Given the description of an element on the screen output the (x, y) to click on. 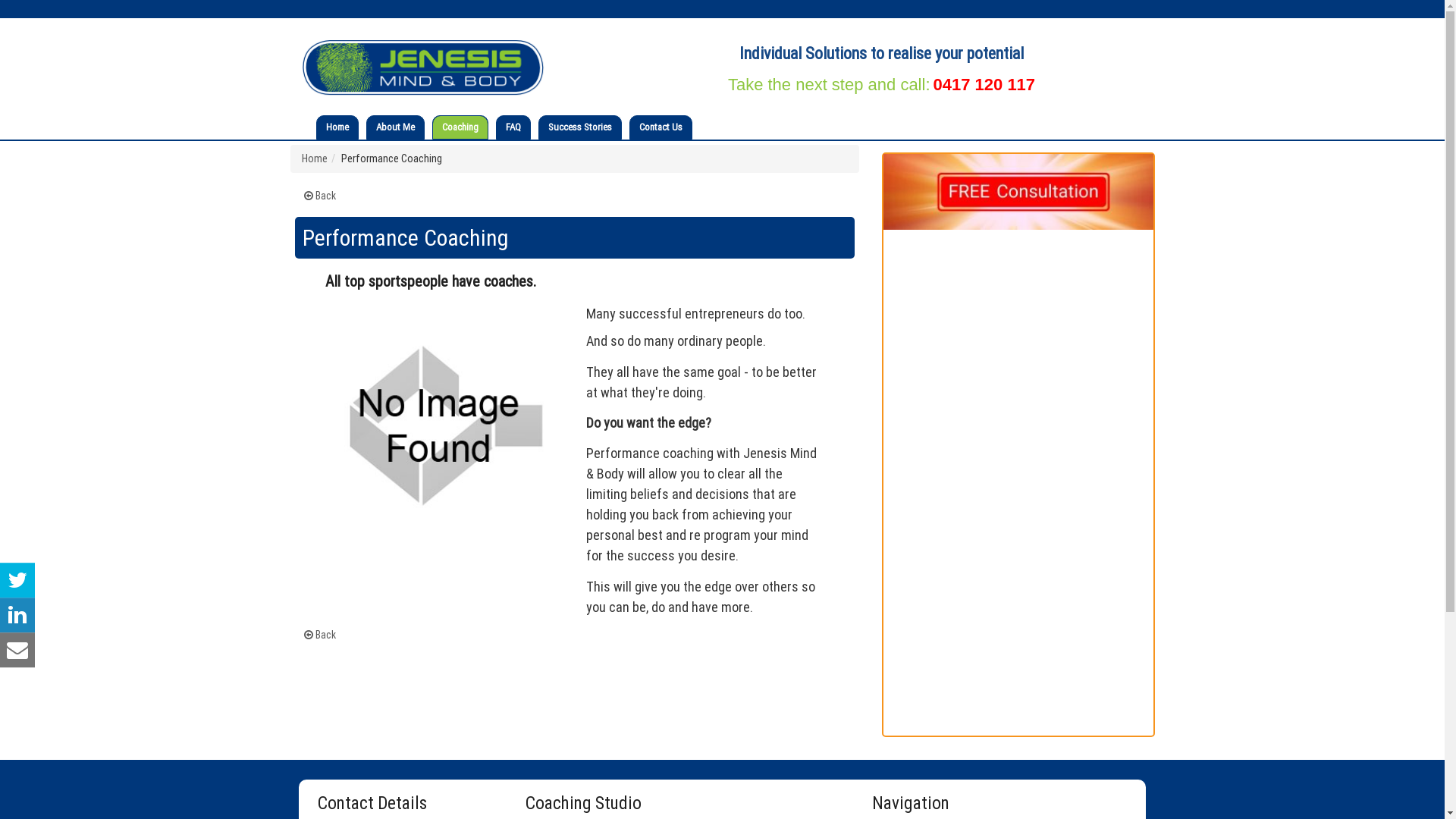
Success Stories Element type: text (579, 127)
Jenesis Mind and Body Email Us Element type: hover (17, 649)
About Me Element type: text (395, 127)
Home Element type: text (336, 127)
Jenesis Mind and Body Twitter Element type: hover (17, 579)
Free 1 Hour Consultation Element type: hover (1017, 191)
Contact Us Element type: text (659, 127)
Coaching Element type: text (459, 127)
FAQ Element type: text (512, 127)
 Back Element type: text (319, 634)
Jenesis Mind and Body Element type: hover (422, 68)
 Back Element type: text (319, 195)
Jenesis Mind and Body linkedin Element type: hover (17, 614)
Home Element type: text (314, 158)
